Given the description of an element on the screen output the (x, y) to click on. 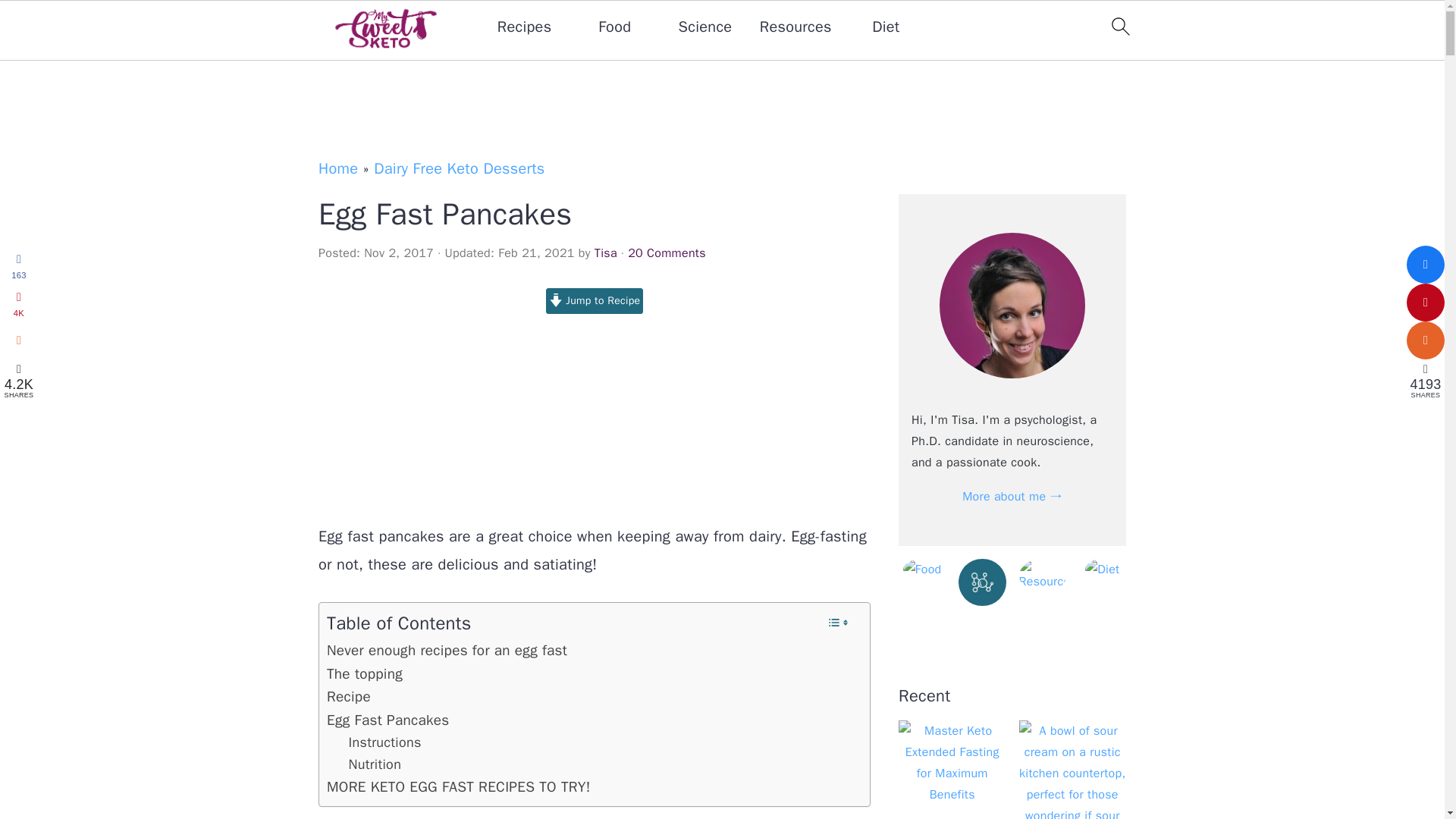
Jump to Recipe (594, 300)
Jump to Recipe (594, 300)
Nutrition (375, 764)
Tisa (605, 253)
Dairy Free Keto Desserts (459, 168)
Recipe (348, 696)
Science (705, 27)
Instructions  (387, 742)
Diet (885, 27)
Recipe (348, 696)
Never enough recipes for an egg fast (446, 650)
Resources (795, 27)
The topping (364, 673)
Recipes (524, 27)
